Given the description of an element on the screen output the (x, y) to click on. 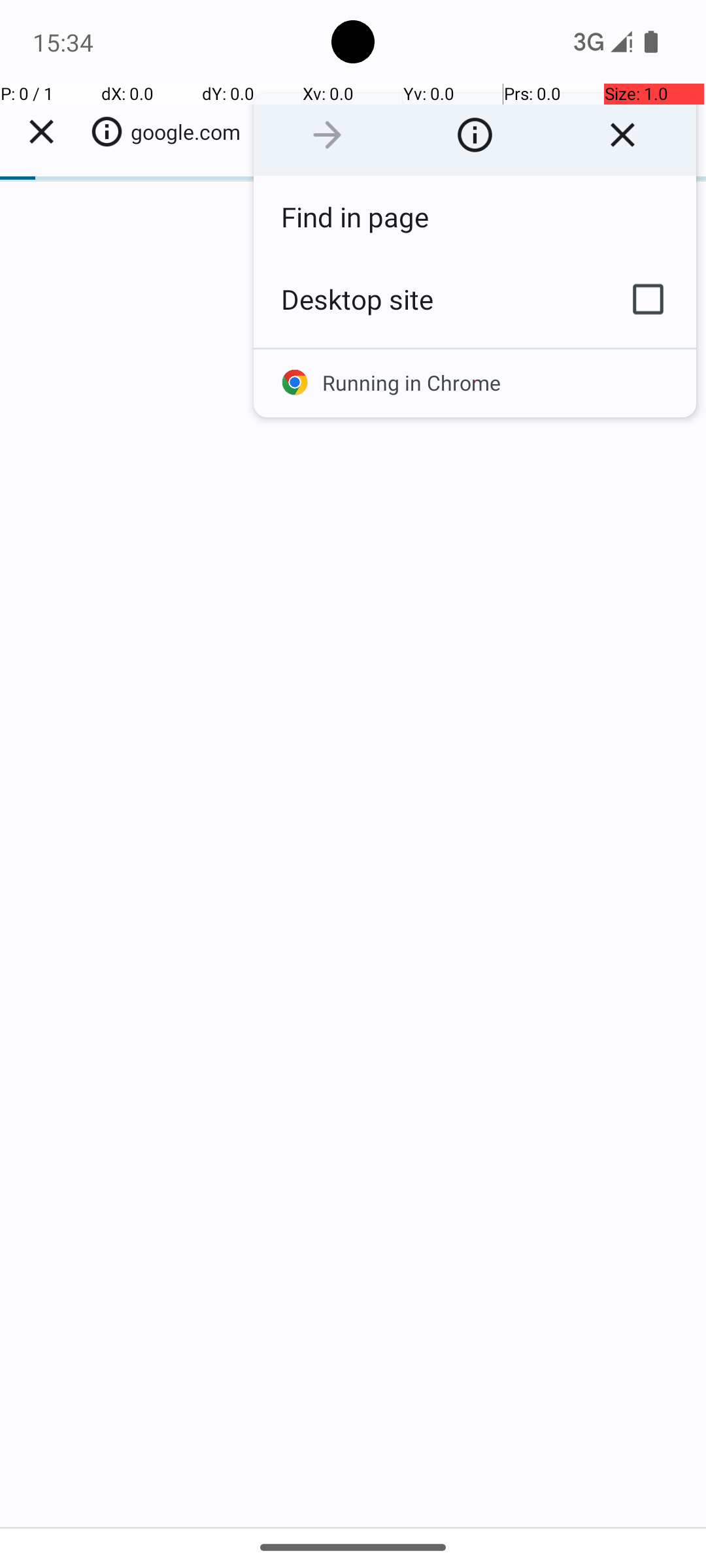
Running in Chrome Element type: android.widget.TextView (474, 382)
Go forward Element type: android.widget.ImageButton (326, 134)
View site information Element type: android.widget.ImageButton (474, 134)
Stop refreshing Element type: android.widget.ImageButton (622, 134)
Find in page Element type: android.widget.TextView (474, 216)
Desktop site Element type: android.widget.TextView (426, 299)
